Given the description of an element on the screen output the (x, y) to click on. 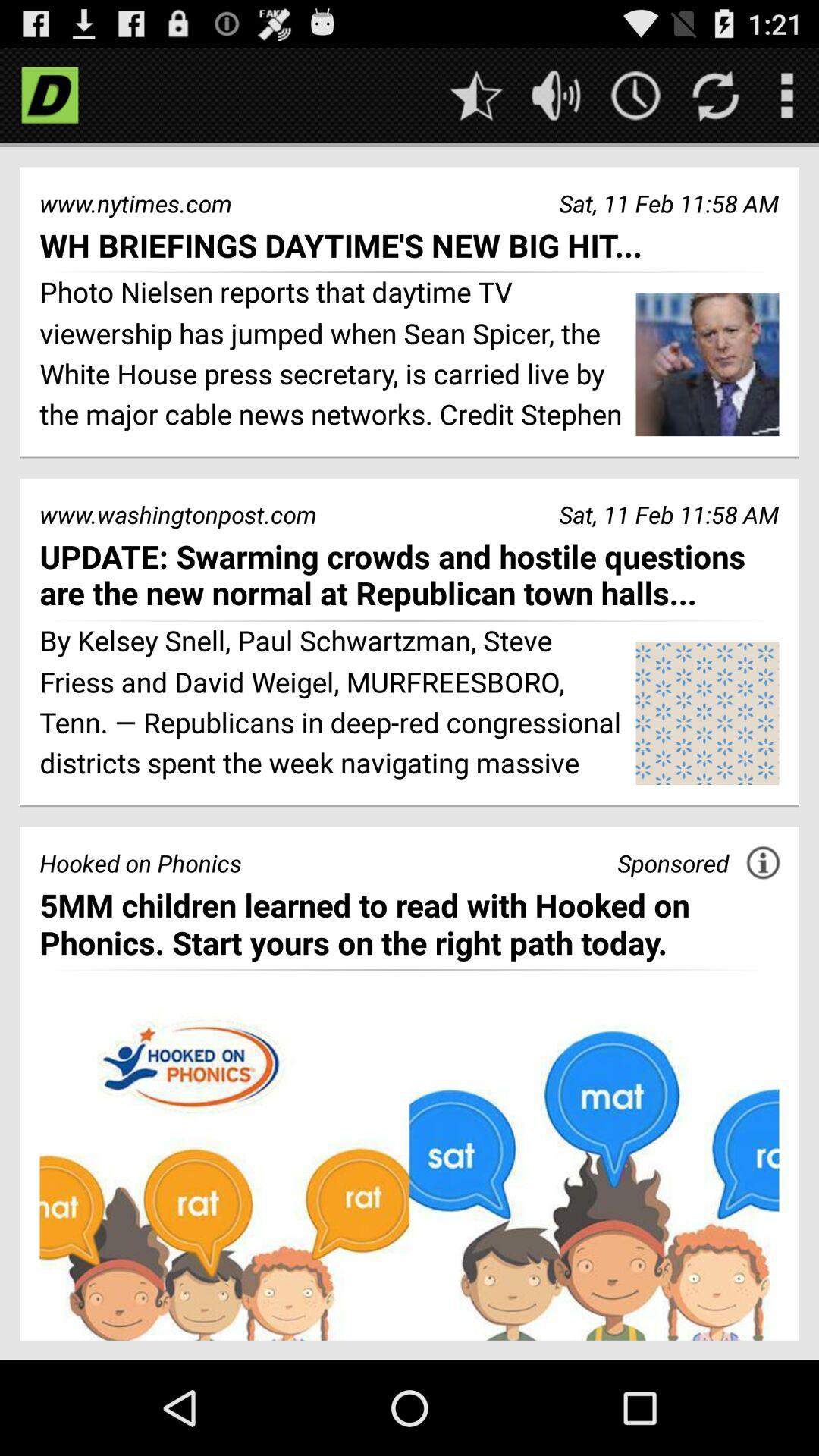
turn off by kelsey snell item (332, 704)
